Given the description of an element on the screen output the (x, y) to click on. 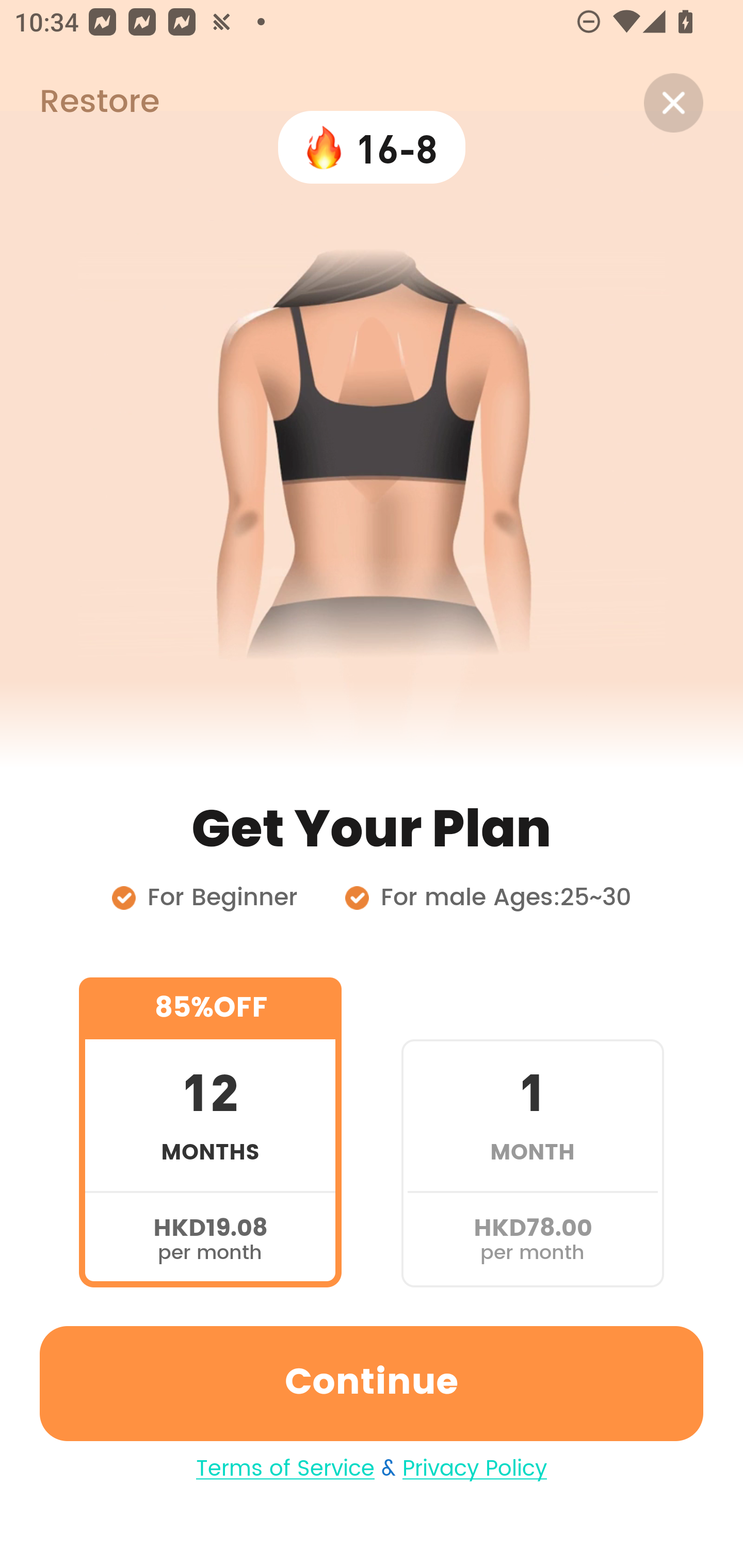
Restore (79, 102)
85%OFF 12 MONTHS per month HKD19.08 (209, 1131)
1 MONTH per month HKD78.00 (532, 1131)
Continue (371, 1383)
